Given the description of an element on the screen output the (x, y) to click on. 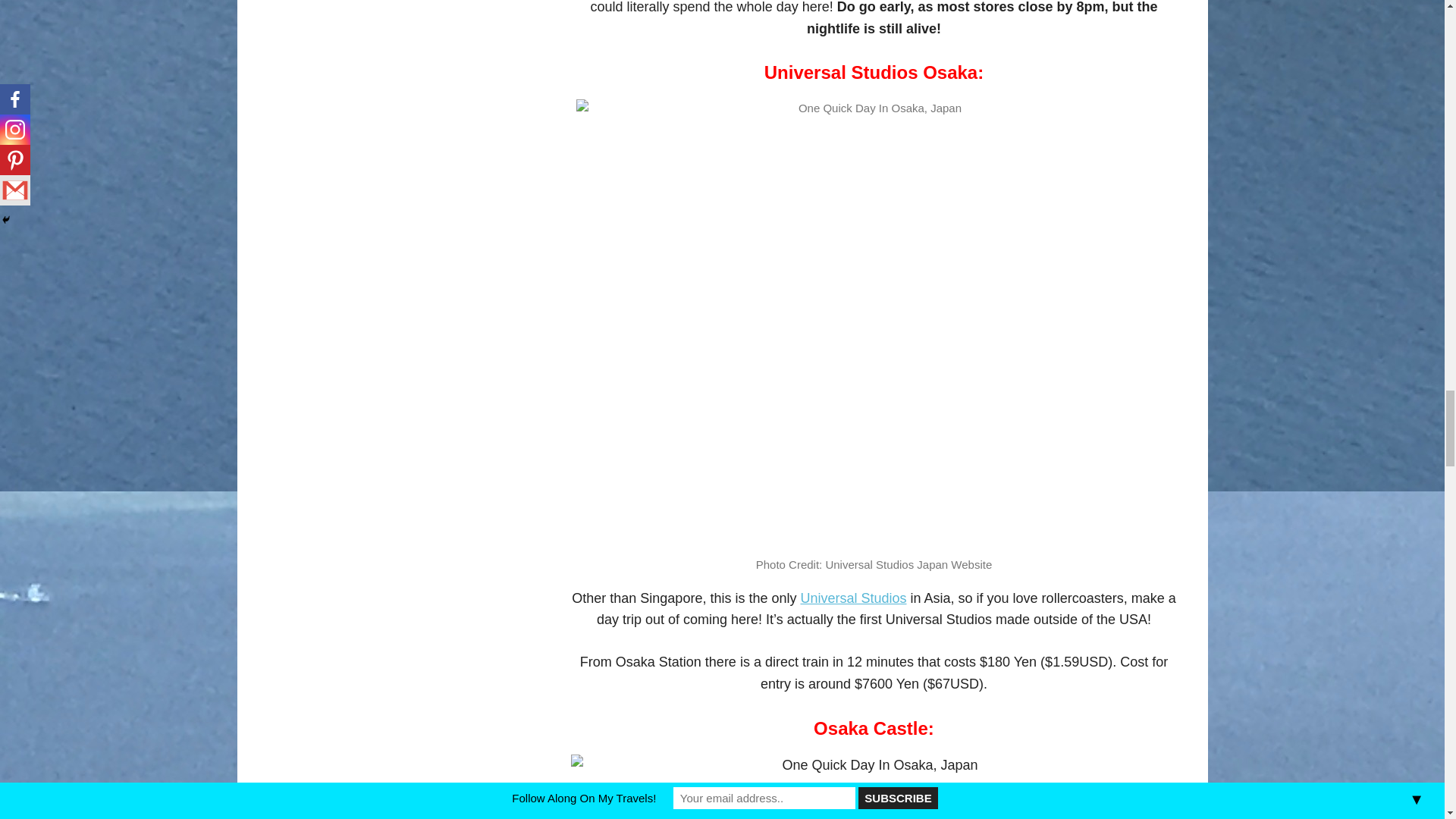
One Quick Day In Osaka, Japan (873, 786)
